Given the description of an element on the screen output the (x, y) to click on. 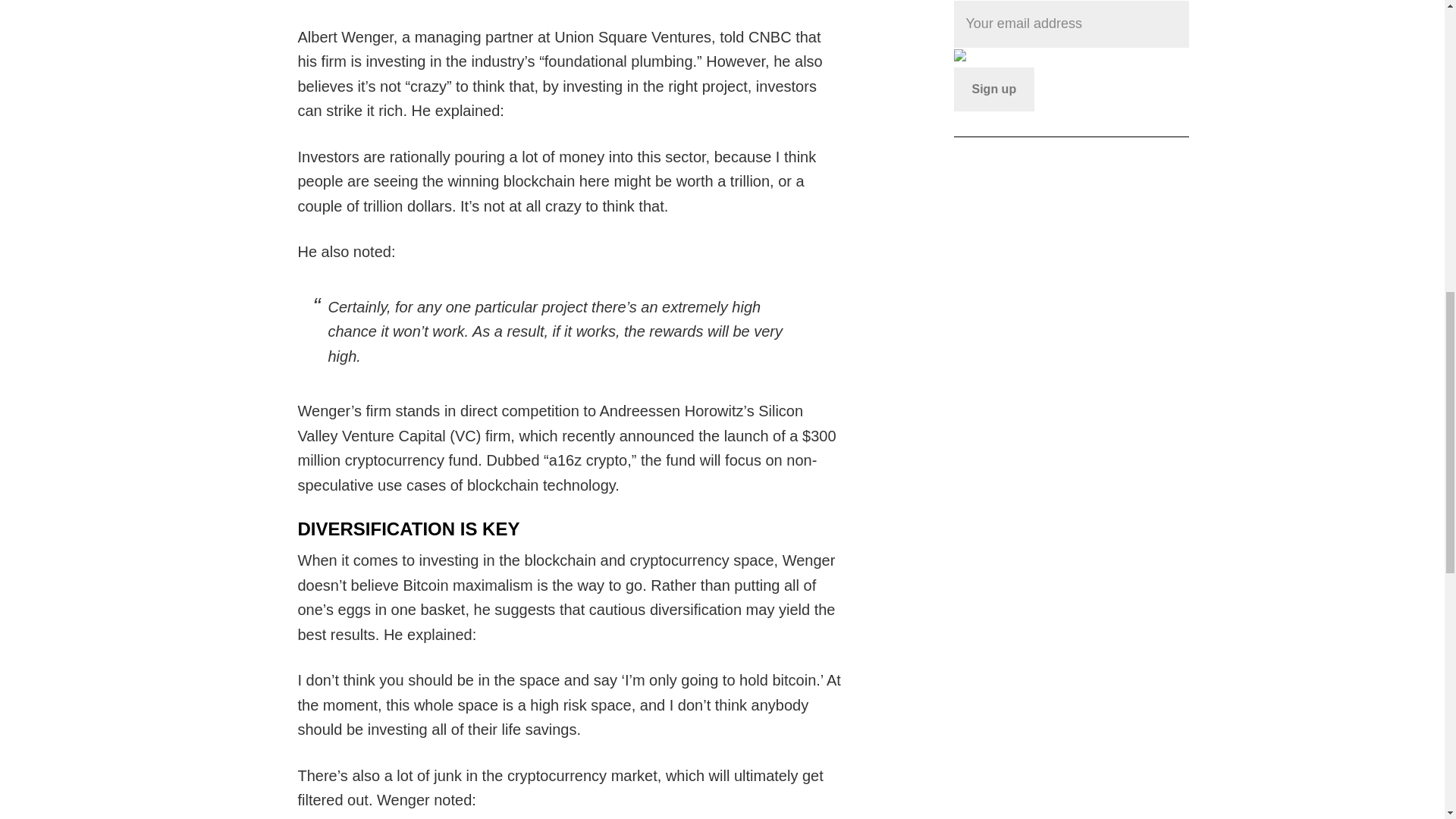
Sign up (994, 89)
Sign up (994, 89)
